Given the description of an element on the screen output the (x, y) to click on. 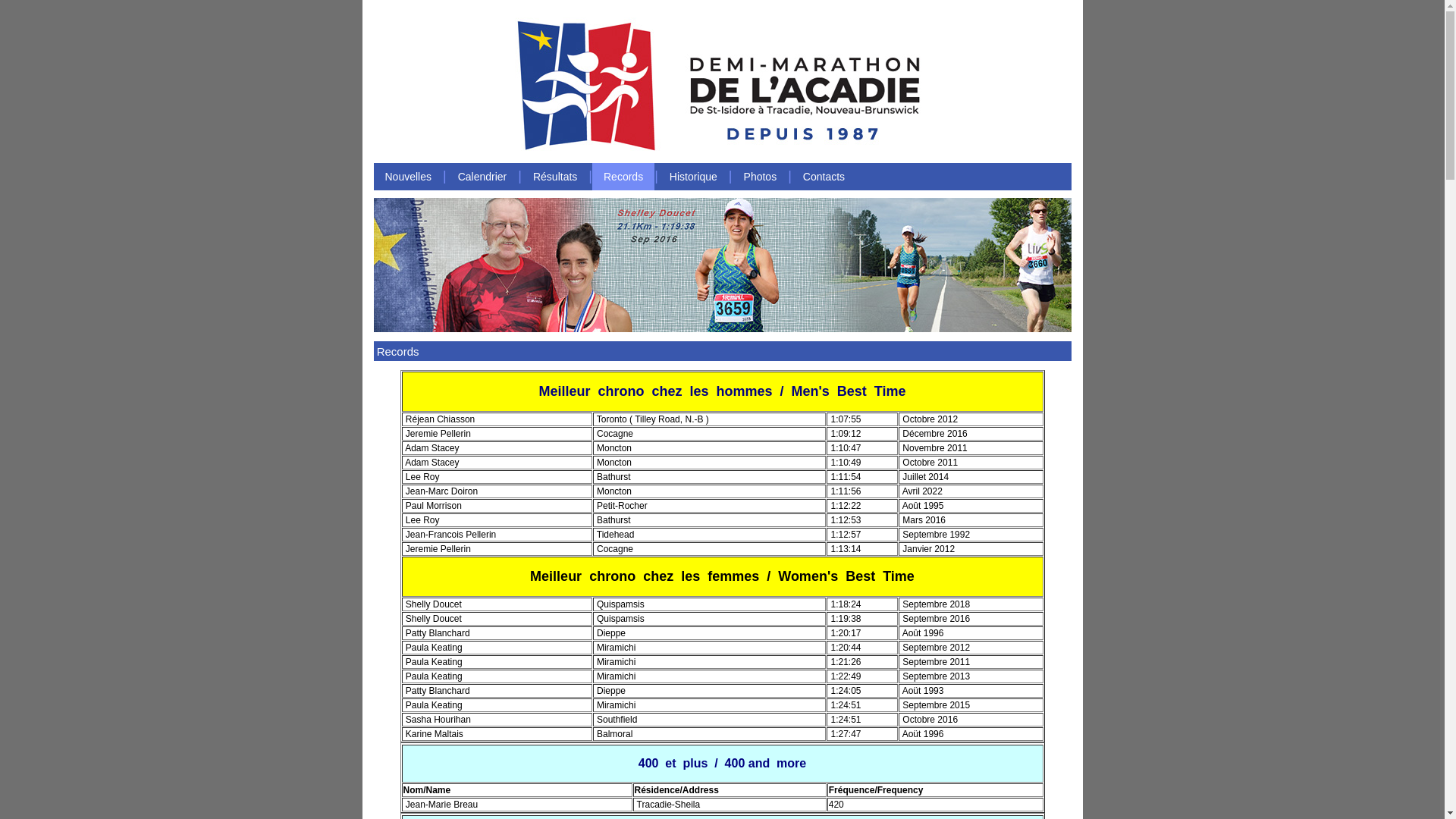
Nouvelles Element type: text (407, 176)
Photos Element type: text (760, 176)
Records Element type: text (623, 176)
Contacts Element type: text (823, 176)
Historique Element type: text (693, 176)
Calendrier Element type: text (482, 176)
